Given the description of an element on the screen output the (x, y) to click on. 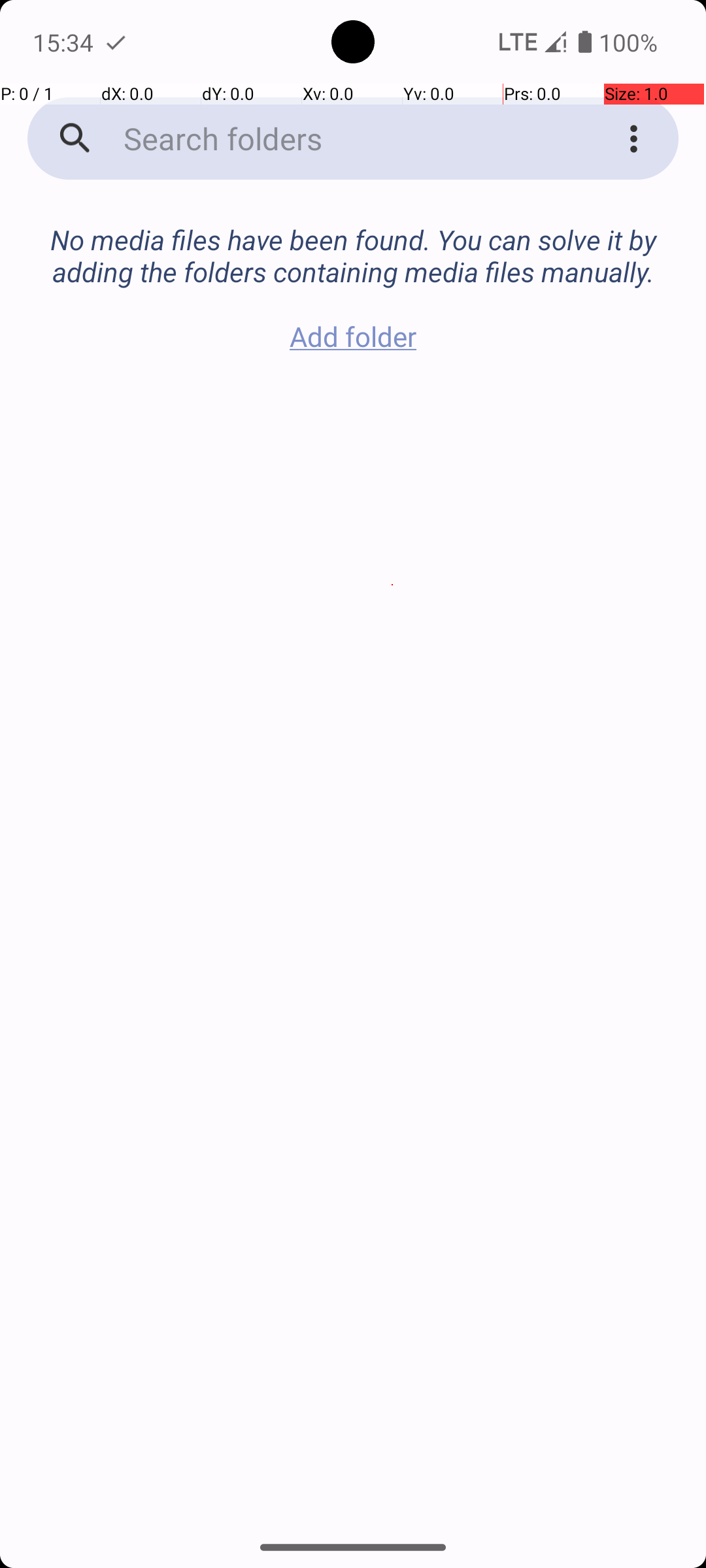
No media files have been found. You can solve it by adding the folders containing media files manually. Element type: android.widget.TextView (353, 241)
Add folder Element type: android.widget.TextView (352, 336)
